Given the description of an element on the screen output the (x, y) to click on. 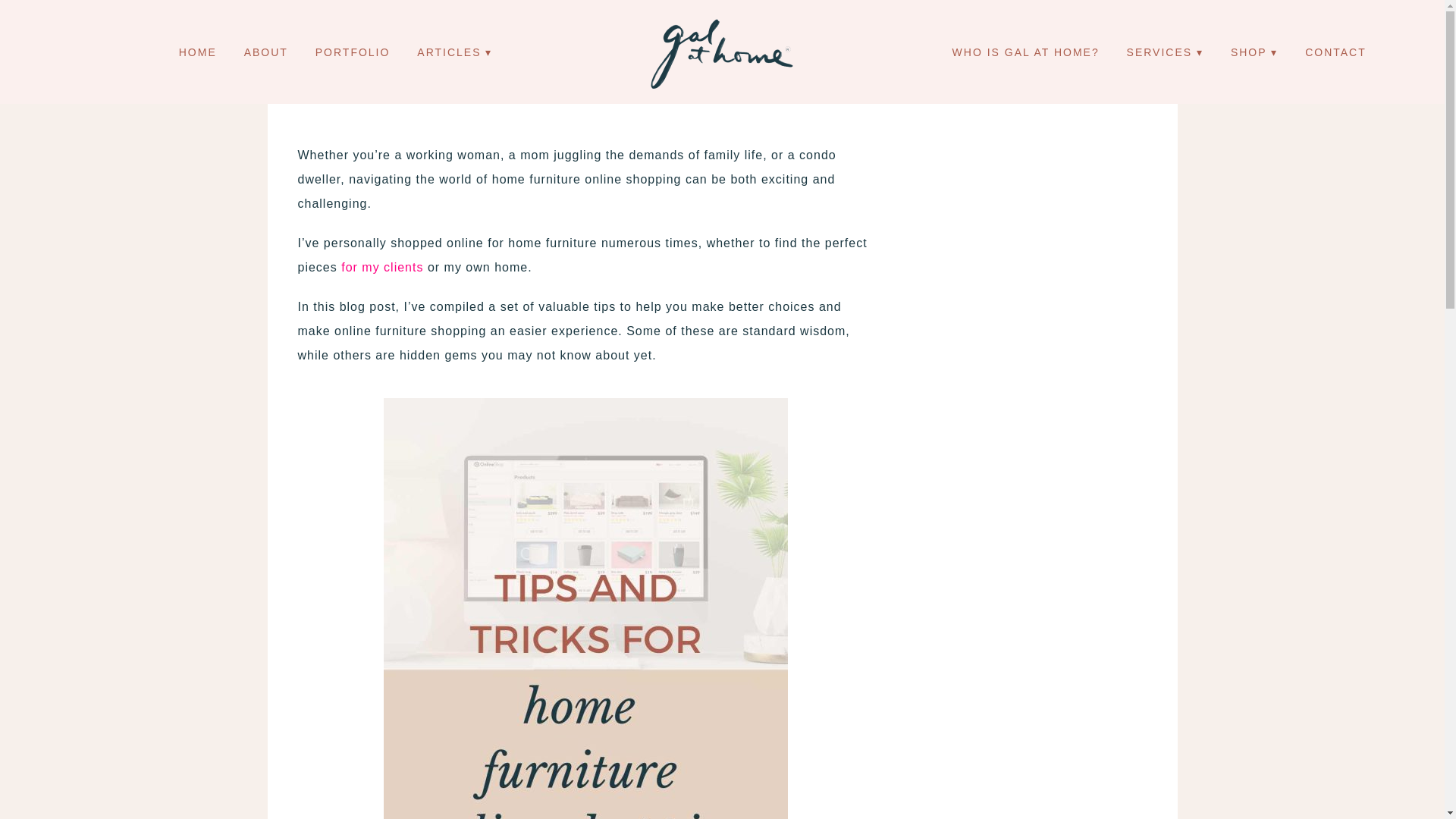
ABOUT (265, 51)
Tips and tricks for home furniture online shopping (585, 59)
HOME (197, 51)
SERVICES (1164, 51)
SHOP (1254, 51)
CONTACT (1335, 51)
WHO IS GAL AT HOME? (1025, 51)
ARTICLES (454, 51)
PORTFOLIO (352, 51)
